Given the description of an element on the screen output the (x, y) to click on. 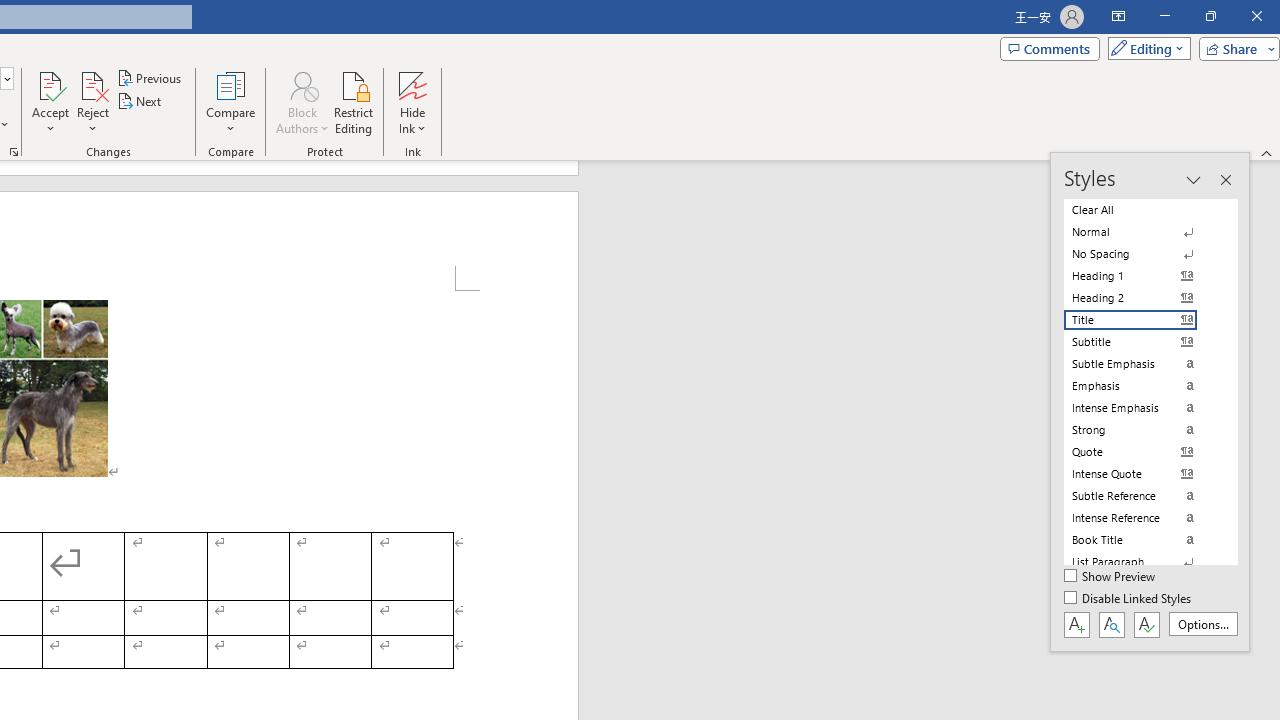
Strong (1142, 429)
Intense Reference (1142, 517)
List Paragraph (1142, 561)
Accept (50, 102)
Clear All (1142, 209)
Normal (1142, 232)
Next (140, 101)
Show Preview (1110, 577)
Block Authors (302, 102)
Accept and Move to Next (50, 84)
Subtle Reference (1142, 495)
